Given the description of an element on the screen output the (x, y) to click on. 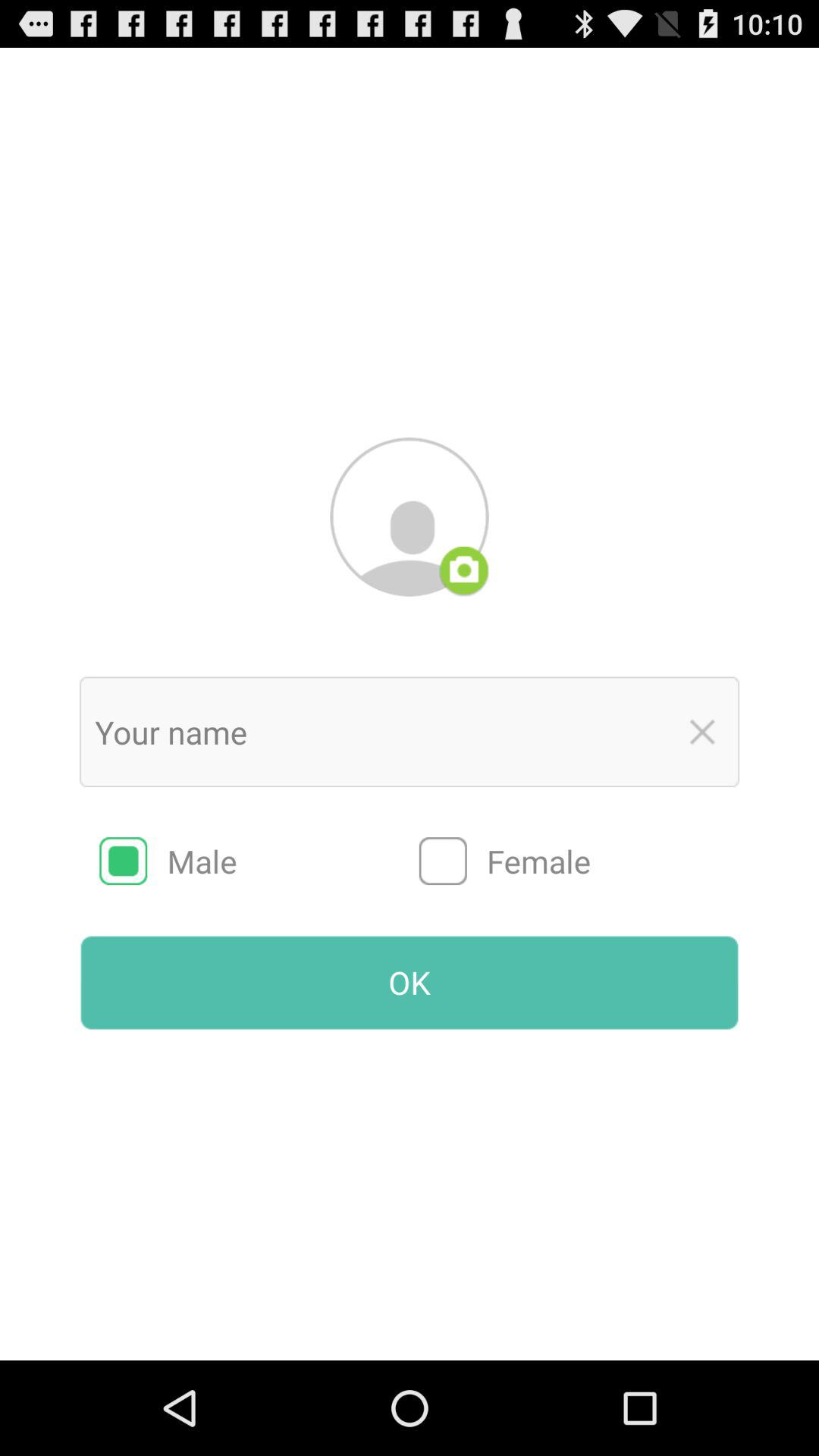
click ok at the bottom (409, 982)
